Given the description of an element on the screen output the (x, y) to click on. 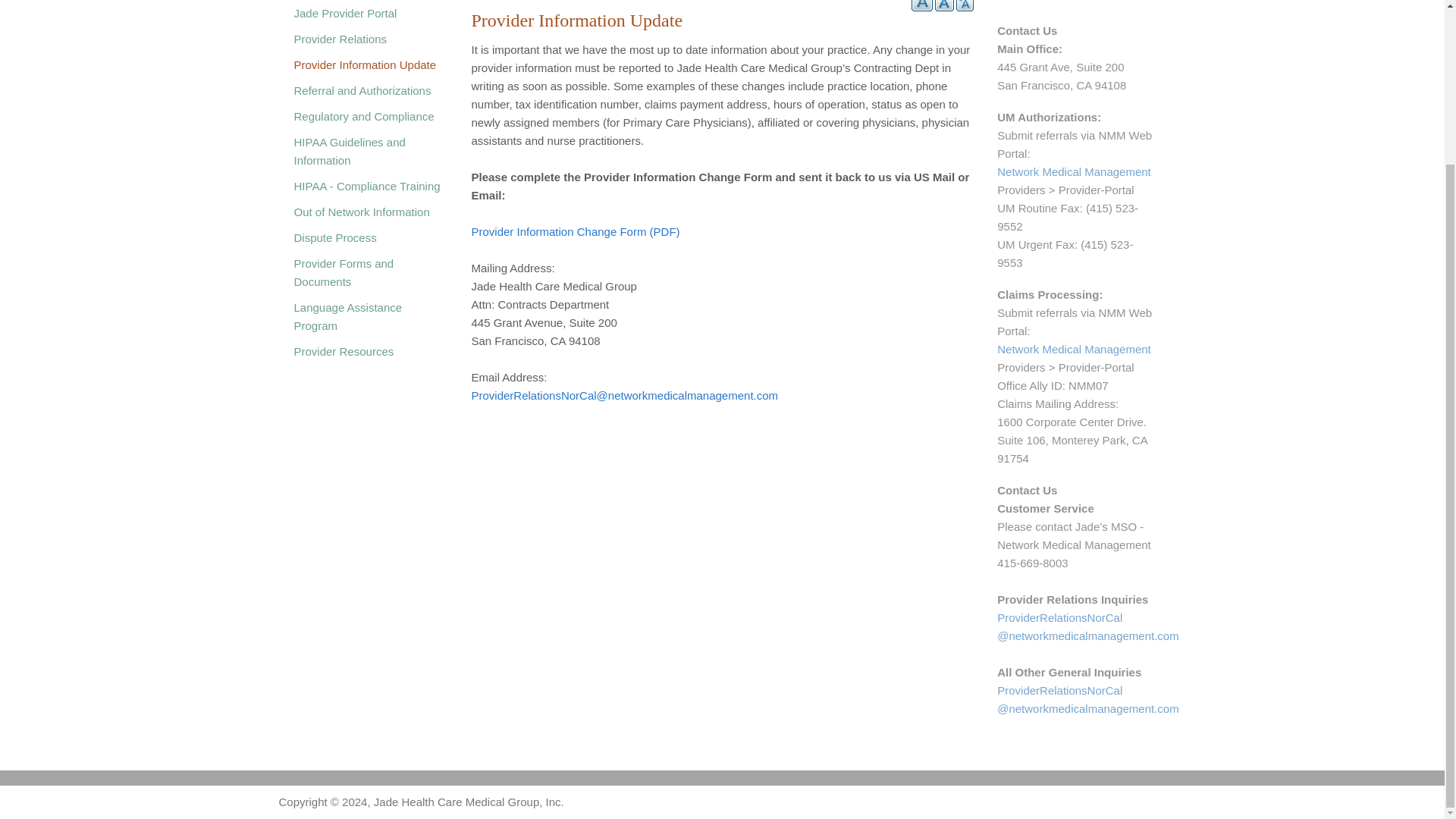
Provider Information Update (1102, 0)
Provider Information Update (1034, 0)
